Given the description of an element on the screen output the (x, y) to click on. 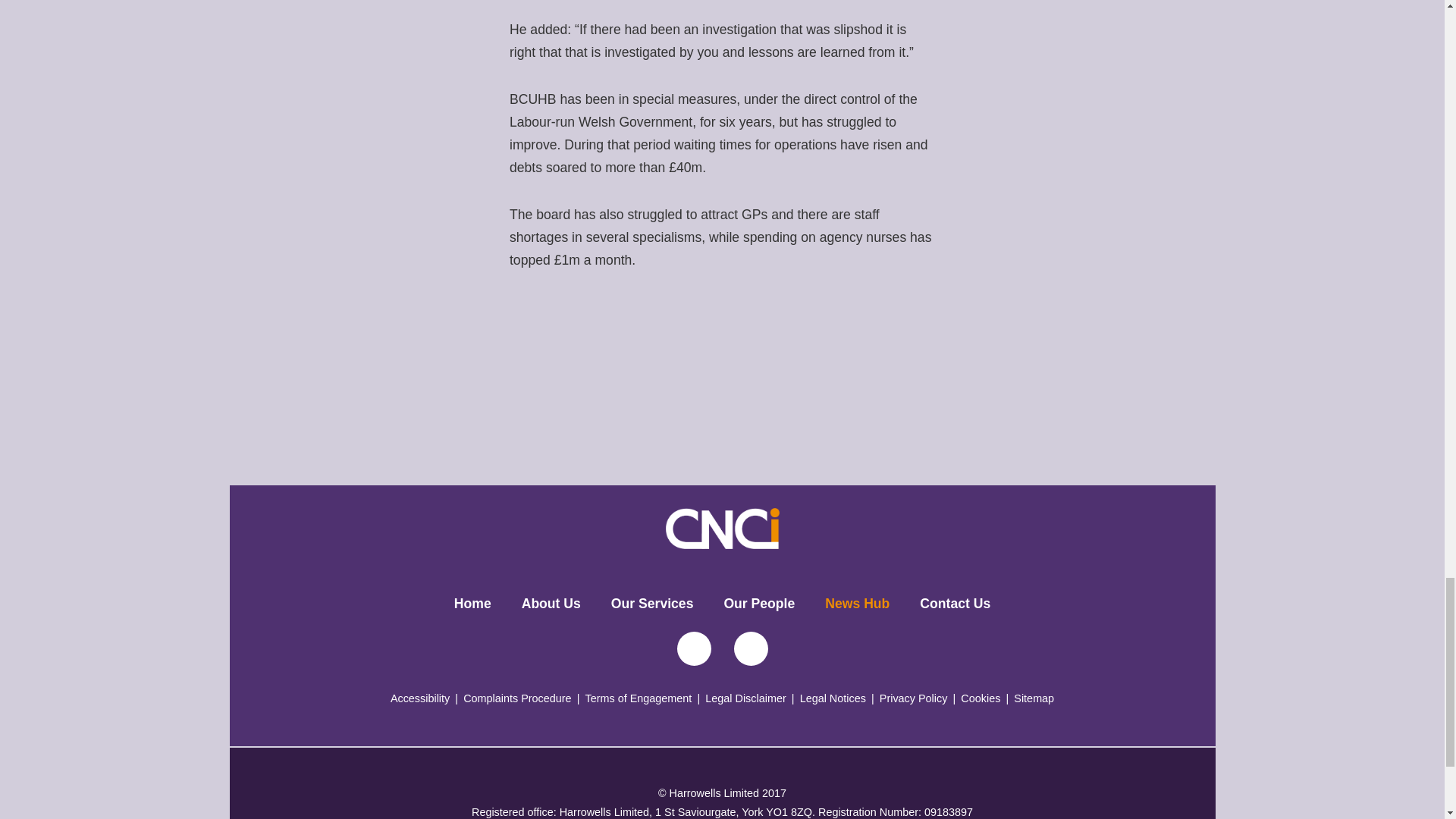
Home (472, 603)
